Given the description of an element on the screen output the (x, y) to click on. 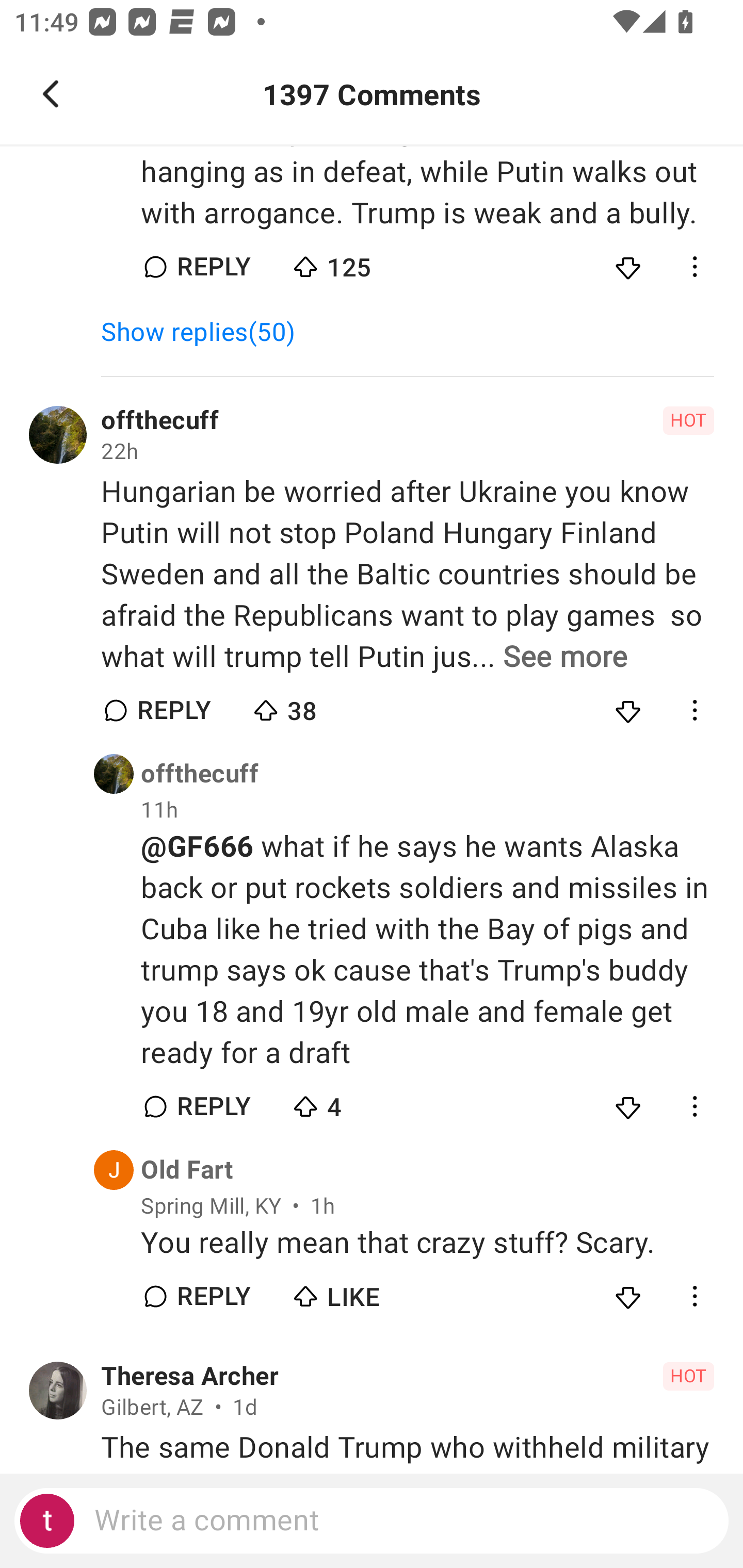
Navigate up (50, 93)
125 (360, 262)
REPLY (213, 267)
Show replies(50) (207, 332)
offthecuff (159, 420)
38 (320, 706)
REPLY (173, 711)
offthecuff (199, 773)
4 (360, 1101)
REPLY (213, 1106)
Old Fart (187, 1170)
You really mean that crazy stuff? Scary. (427, 1243)
LIKE (360, 1291)
REPLY (213, 1295)
Theresa Archer (189, 1375)
Write a comment (371, 1520)
